Given the description of an element on the screen output the (x, y) to click on. 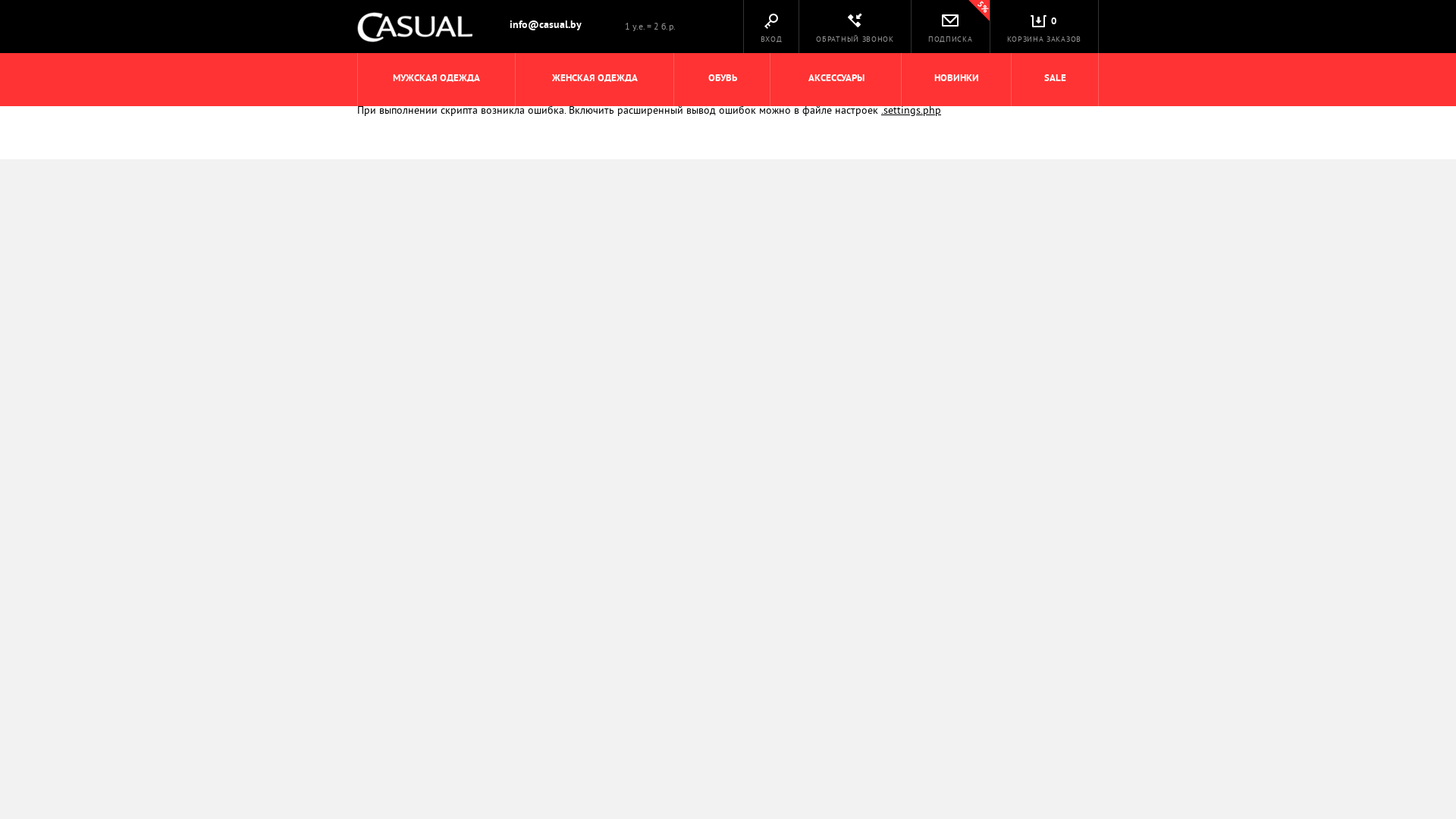
.settings.php Element type: text (911, 110)
SALE Element type: text (1054, 79)
casual Element type: text (414, 27)
